Given the description of an element on the screen output the (x, y) to click on. 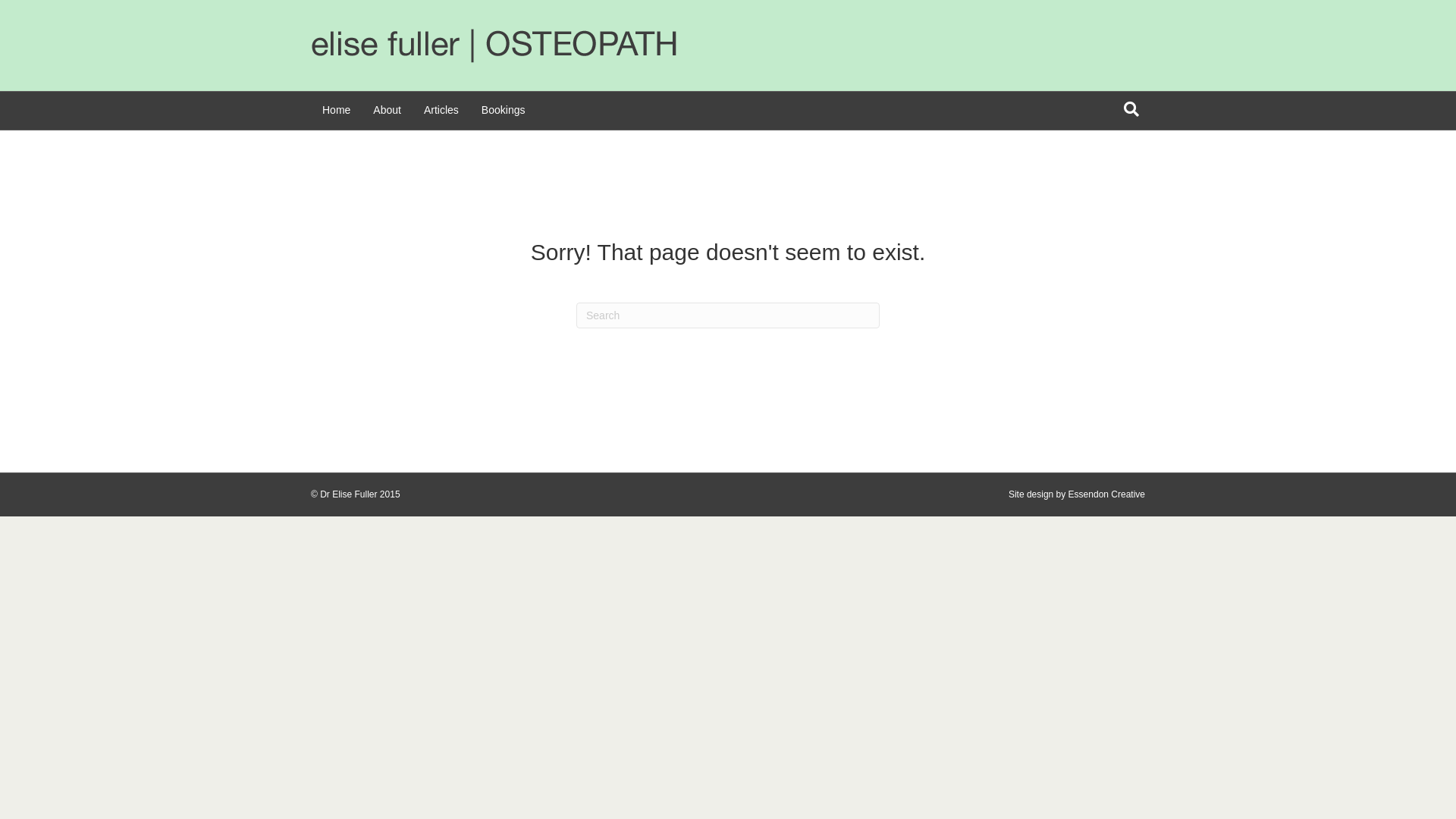
Articles Element type: text (441, 110)
About Element type: text (386, 110)
Essendon Creative Element type: text (1106, 494)
Home Element type: text (335, 110)
Type and press Enter to search. Element type: hover (727, 315)
Bookings Element type: text (503, 110)
